Given the description of an element on the screen output the (x, y) to click on. 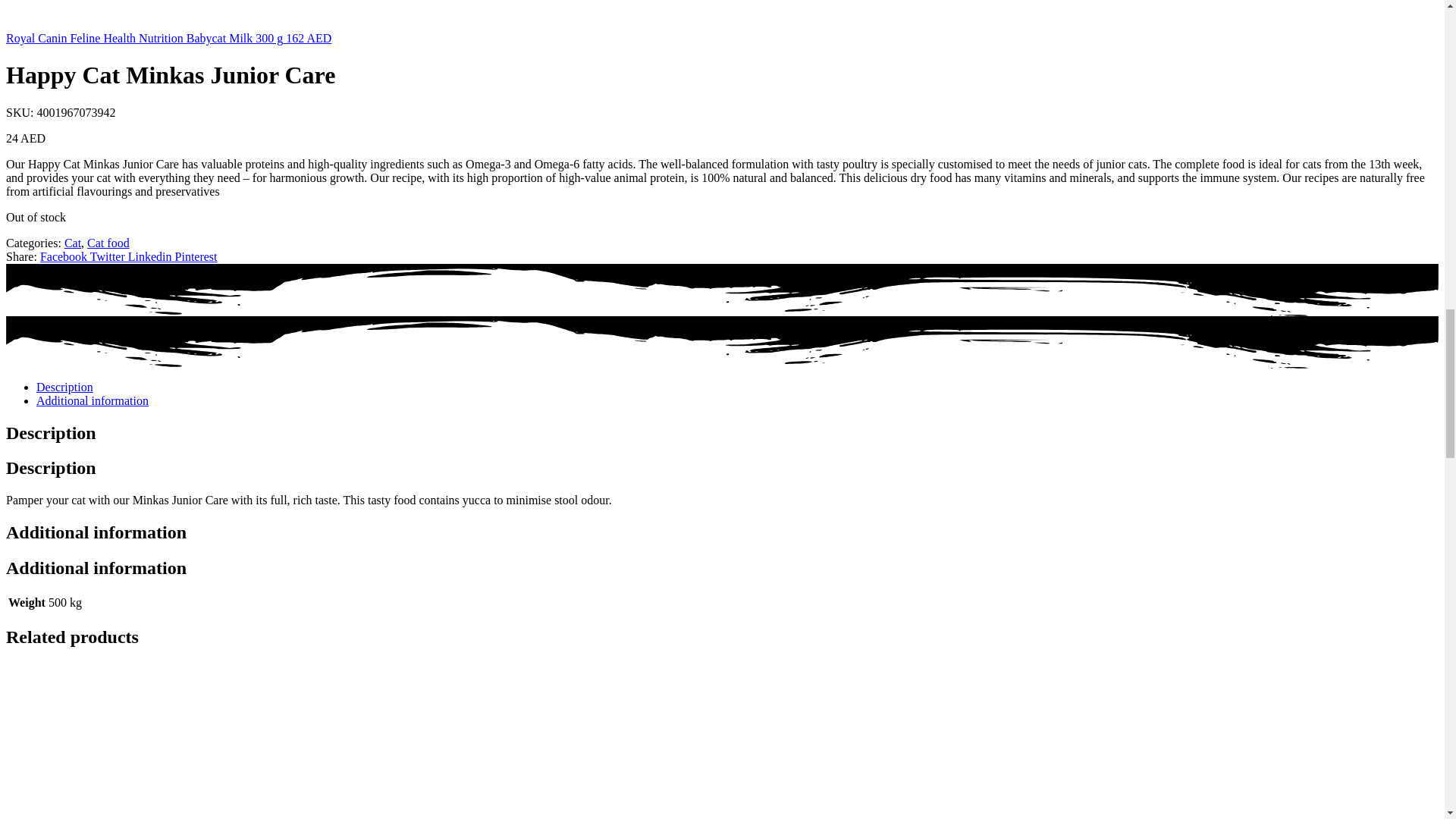
Description (64, 386)
Share on Twitter (109, 256)
Additional information (92, 400)
Cat food (108, 242)
Cat (72, 242)
Pinterest (195, 256)
Linkedin (151, 256)
Facebook (65, 256)
Share on facebook (65, 256)
